Given the description of an element on the screen output the (x, y) to click on. 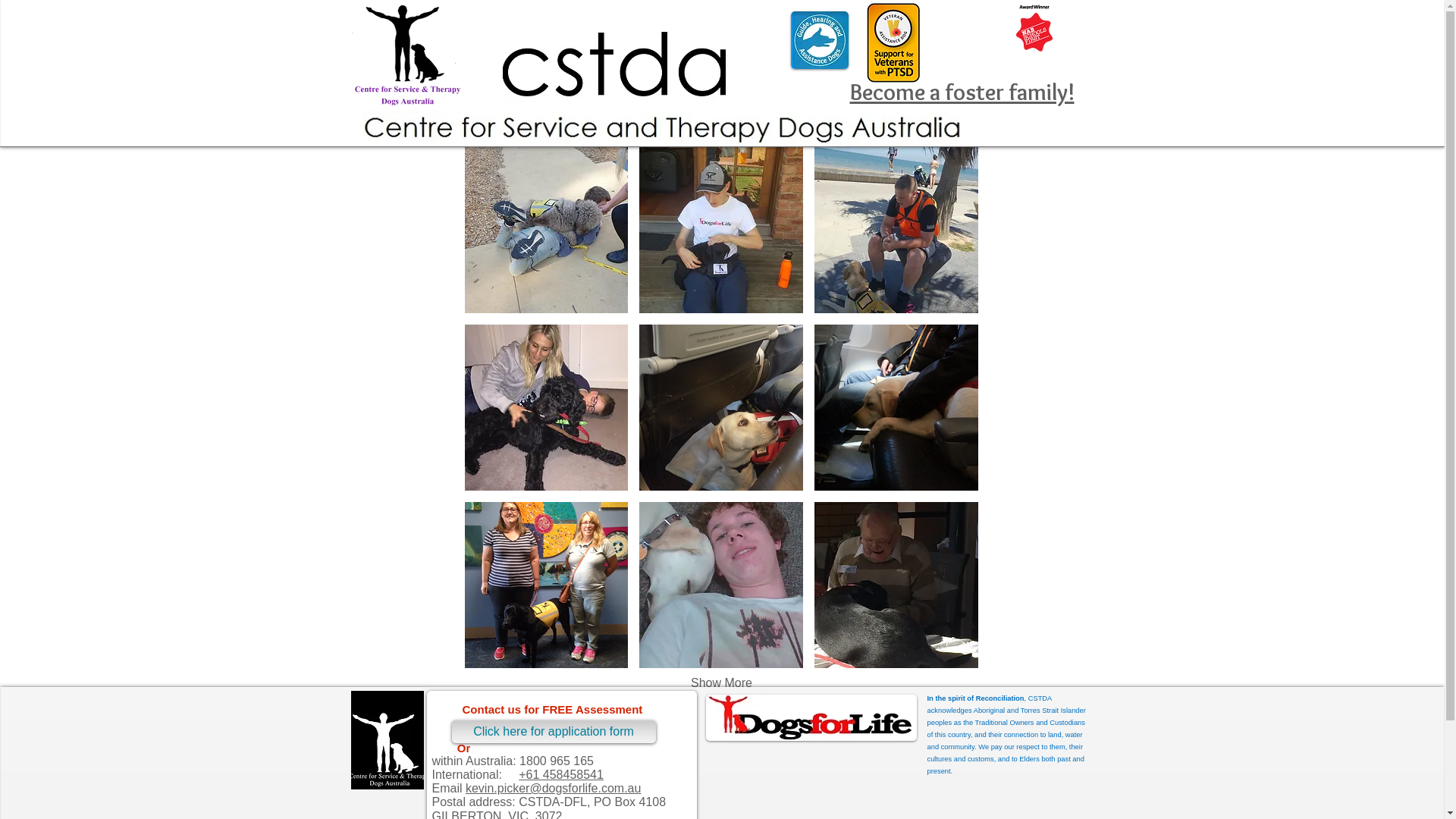
kevin.picker@dogsforlife.com.au Element type: text (552, 787)
logo service therapy assistance alert dog Australia Element type: hover (406, 55)
Click here for application form Element type: text (553, 731)
Become a foster family! Element type: text (961, 92)
+61 458458541 Element type: text (560, 774)
P04369 Veteran PTSD support button. PORTRAIT.png Element type: hover (892, 42)
Show More Element type: text (721, 683)
